Given the description of an element on the screen output the (x, y) to click on. 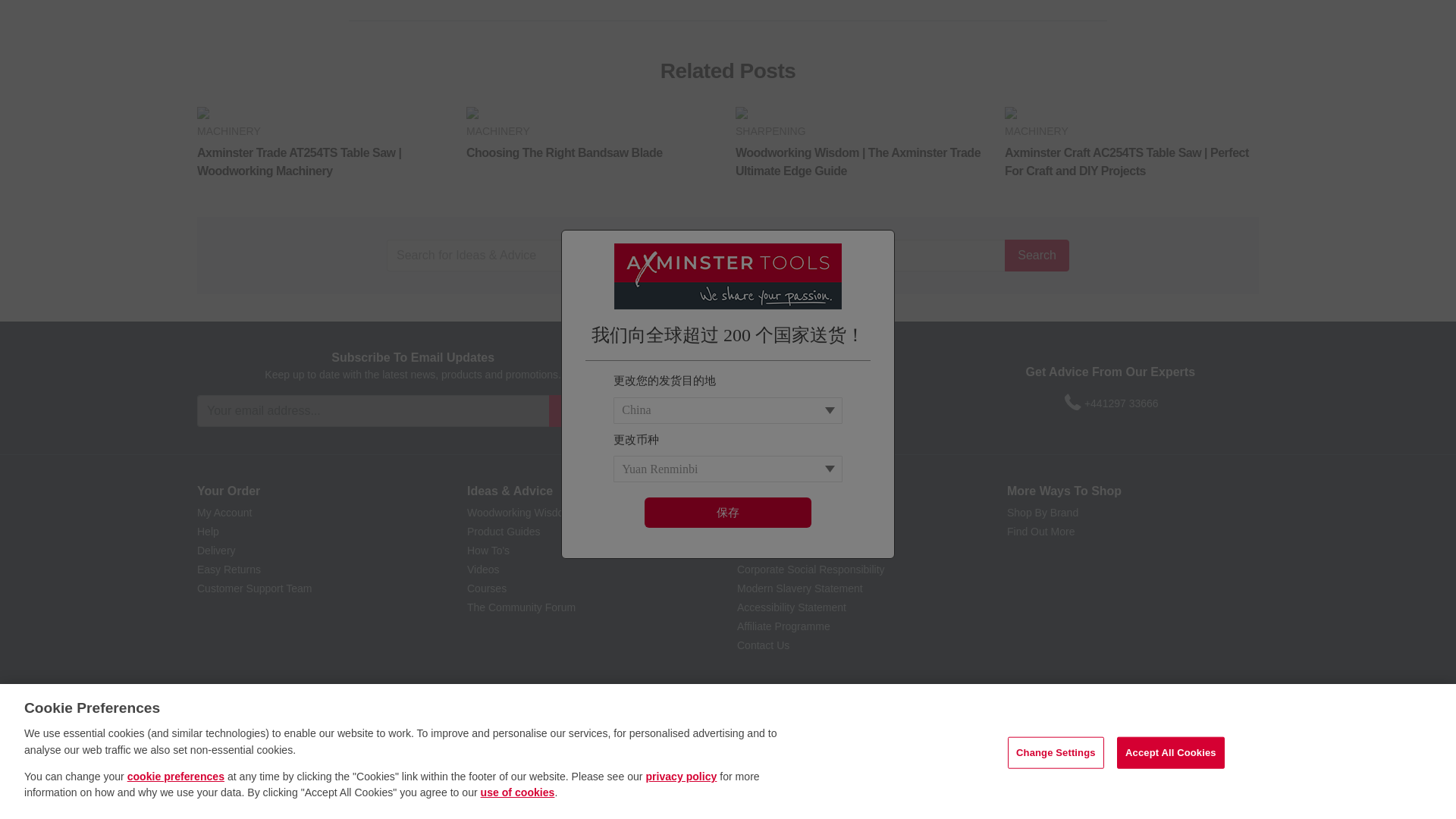
LinkedIn (850, 402)
Instagram (795, 402)
Community (878, 402)
TikTok (822, 402)
Facebook (710, 402)
Phone (1071, 402)
YouTube (766, 402)
